Given the description of an element on the screen output the (x, y) to click on. 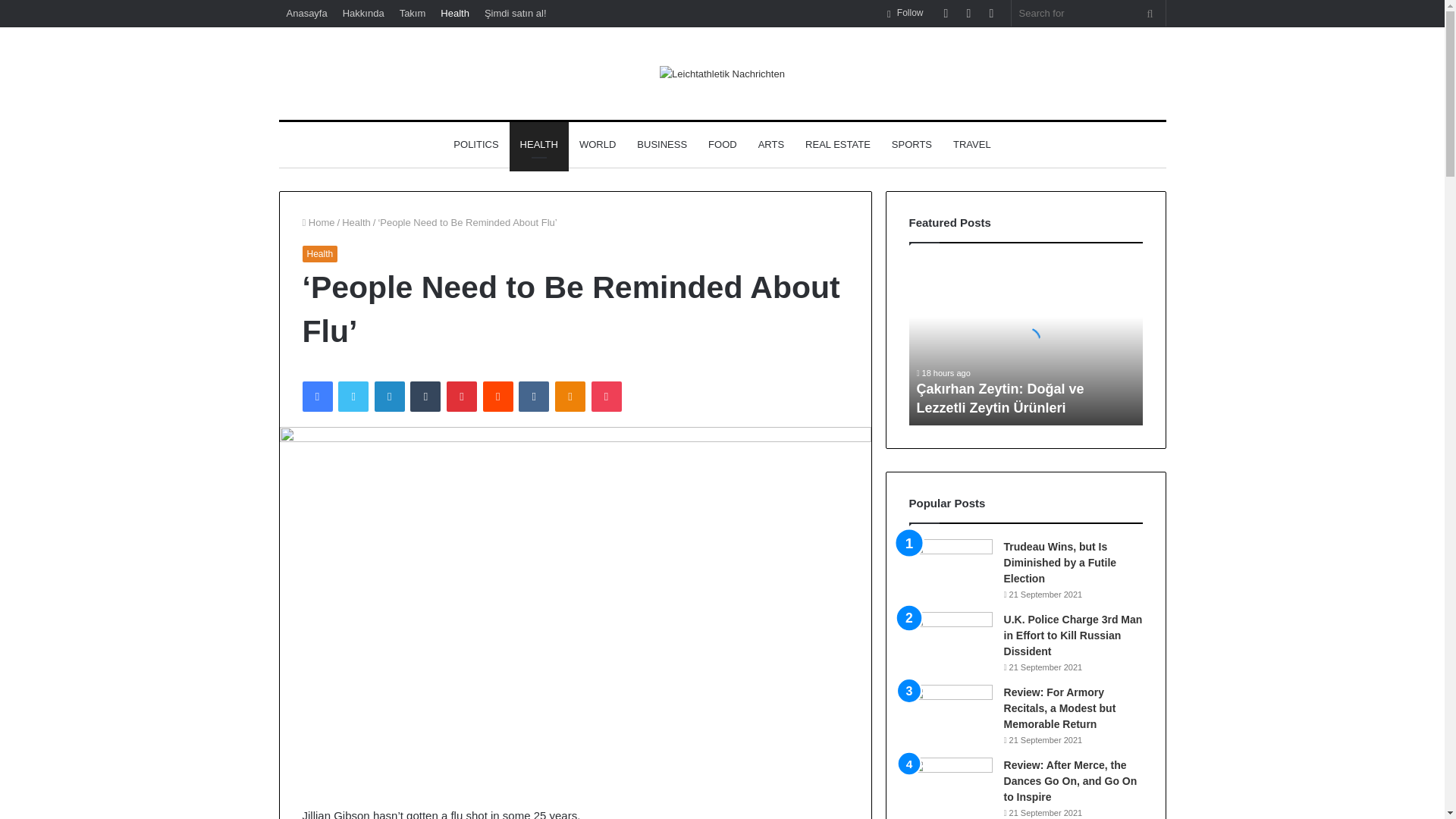
WORLD (597, 144)
Tumblr (425, 396)
Health (454, 13)
Twitter (352, 396)
Health (319, 253)
LinkedIn (389, 396)
Search for (1149, 13)
VKontakte (533, 396)
Twitter (352, 396)
Pinterest (461, 396)
